Given the description of an element on the screen output the (x, y) to click on. 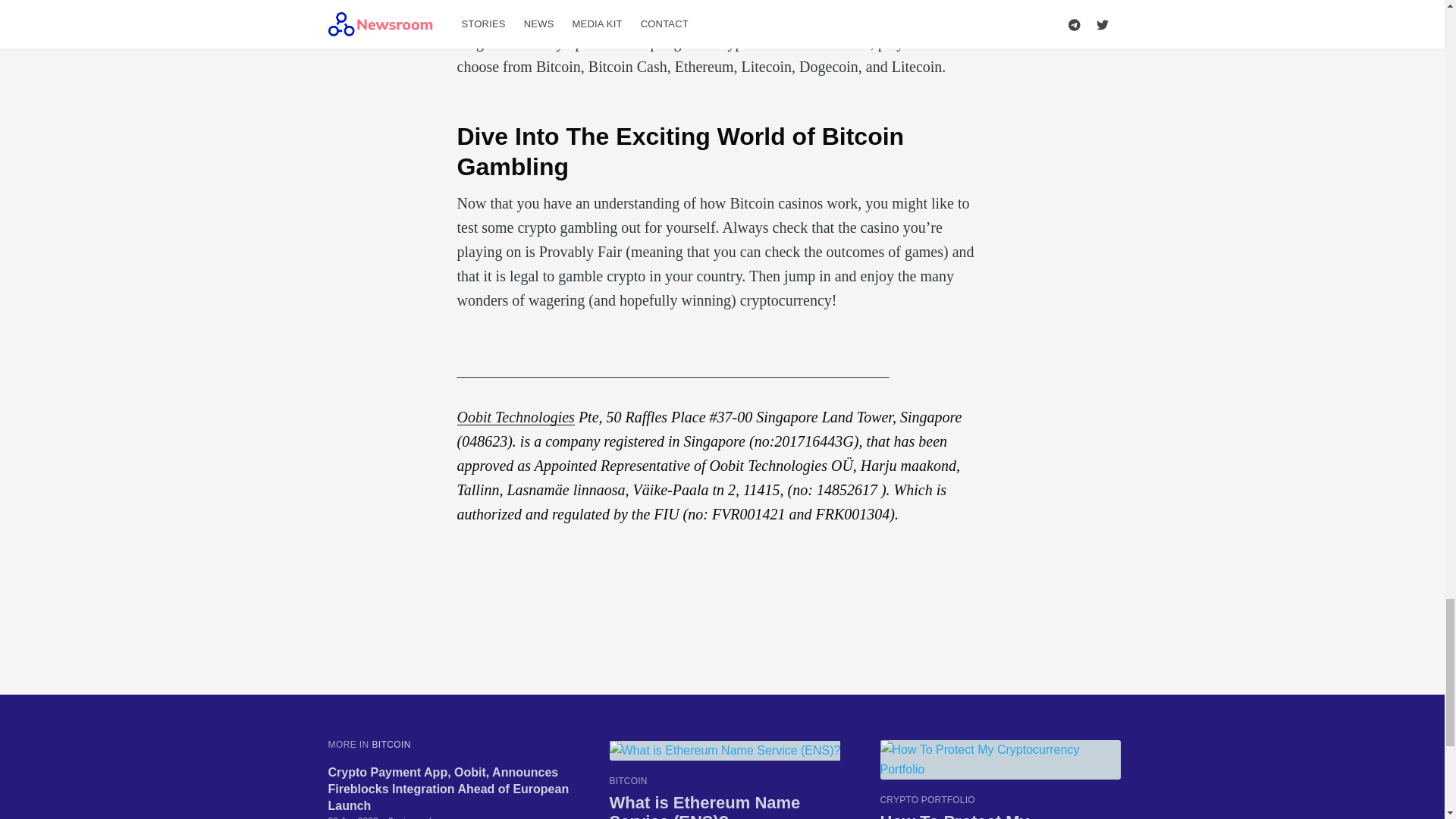
Oobit Technologies (515, 416)
BITCOIN (390, 744)
